Given the description of an element on the screen output the (x, y) to click on. 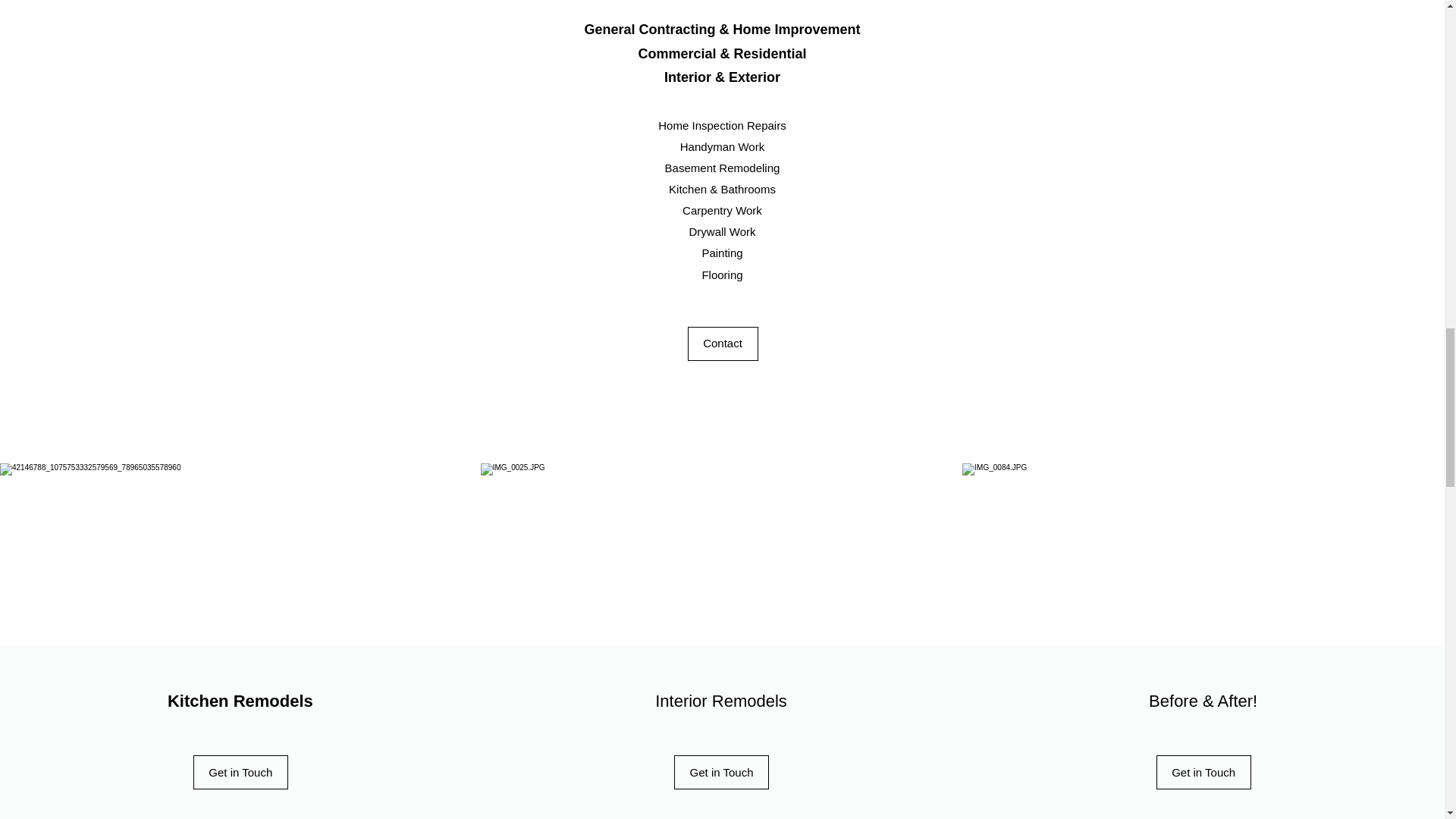
Get in Touch (721, 772)
Contact (722, 343)
Get in Touch (1203, 772)
Get in Touch (240, 772)
